Given the description of an element on the screen output the (x, y) to click on. 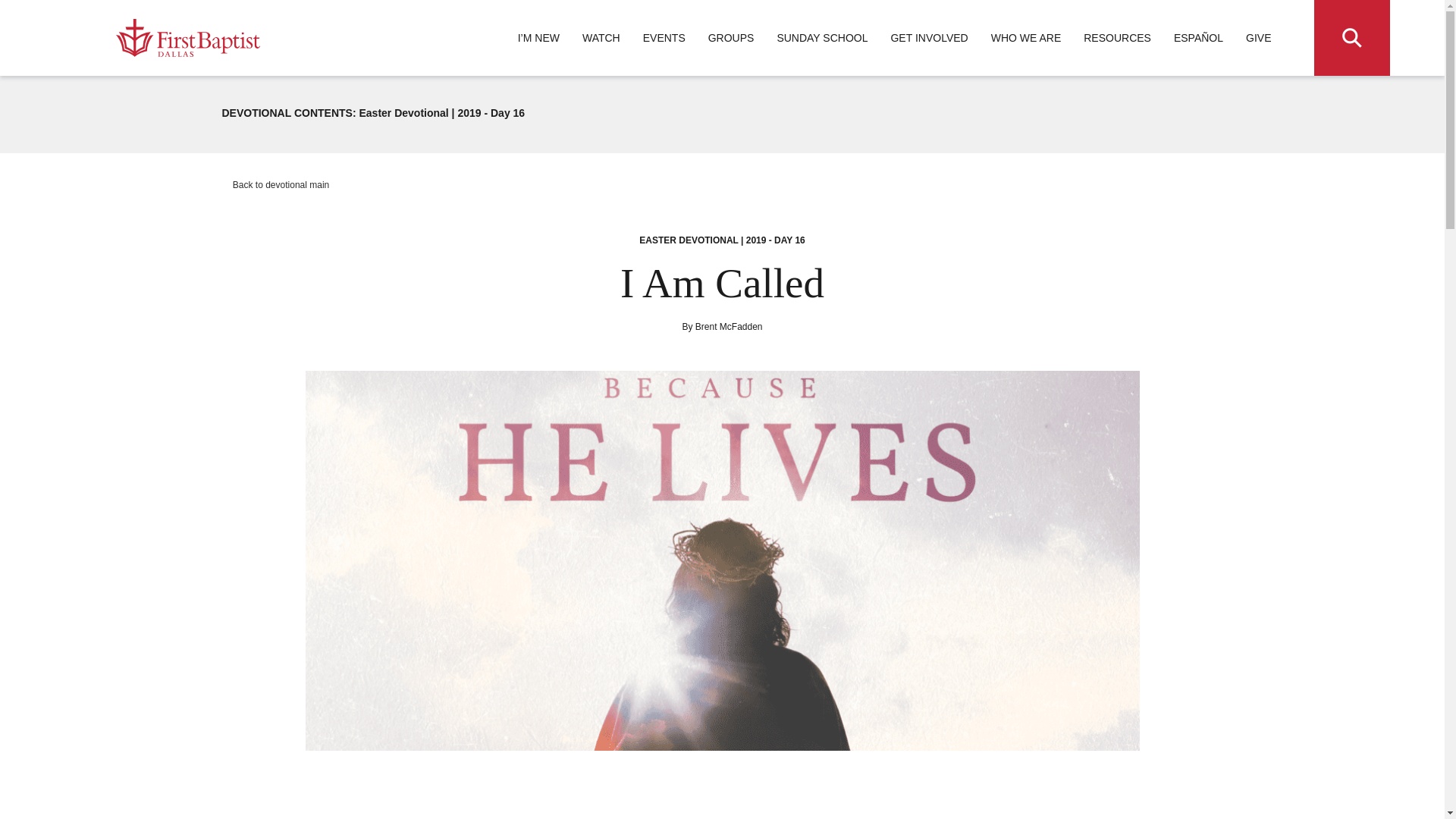
GET INVOLVED (928, 37)
WHO WE ARE (1026, 37)
WATCH (601, 37)
SUNDAY SCHOOL (821, 37)
GIVE (1258, 37)
GROUPS (730, 37)
RESOURCES (1117, 37)
EVENTS (664, 37)
